Given the description of an element on the screen output the (x, y) to click on. 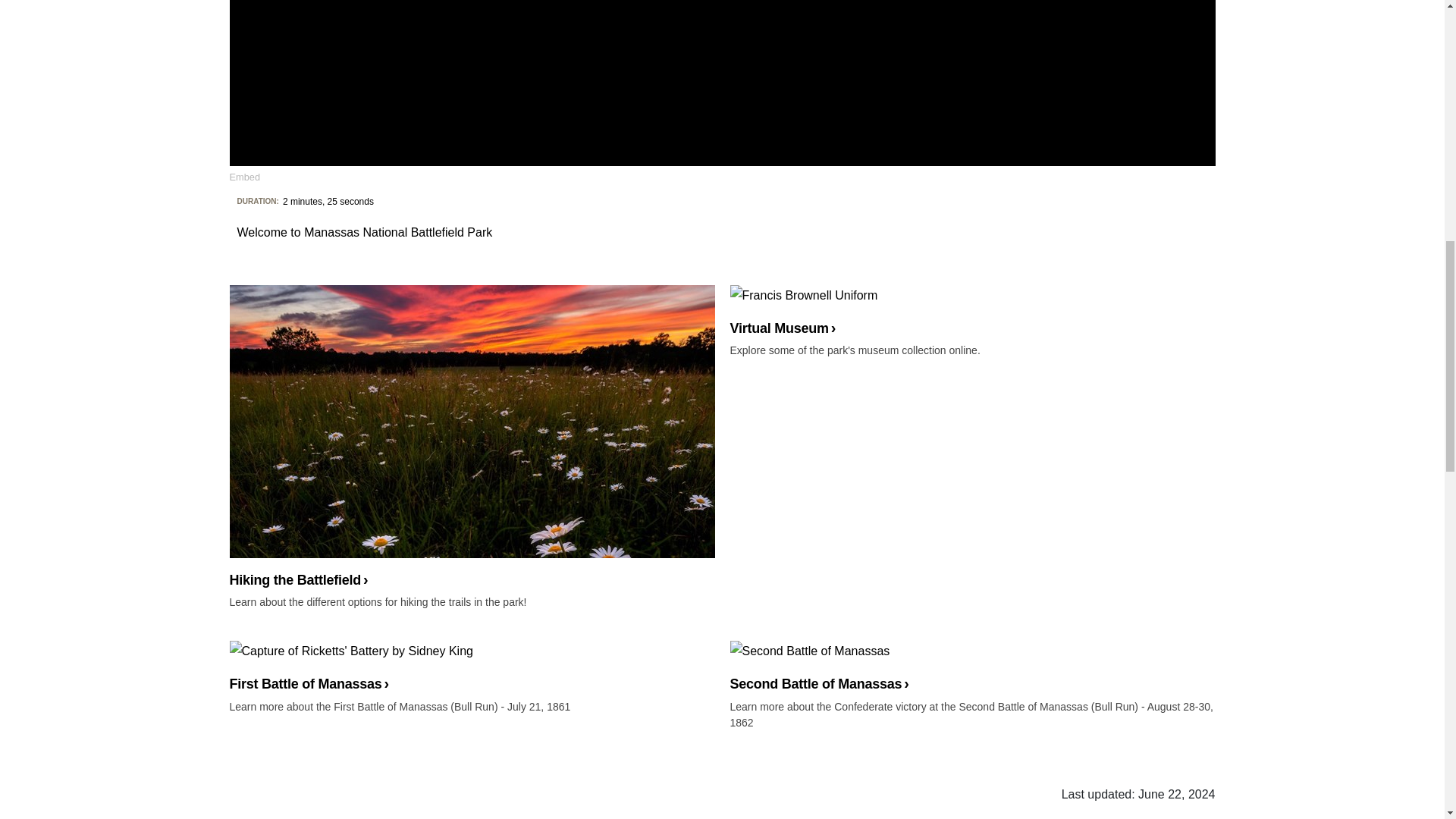
Embed (244, 176)
Embed Video (244, 176)
Second Battle of Manassas (971, 666)
Virtual Museum (971, 311)
First Battle of Manassas (471, 666)
